Given the description of an element on the screen output the (x, y) to click on. 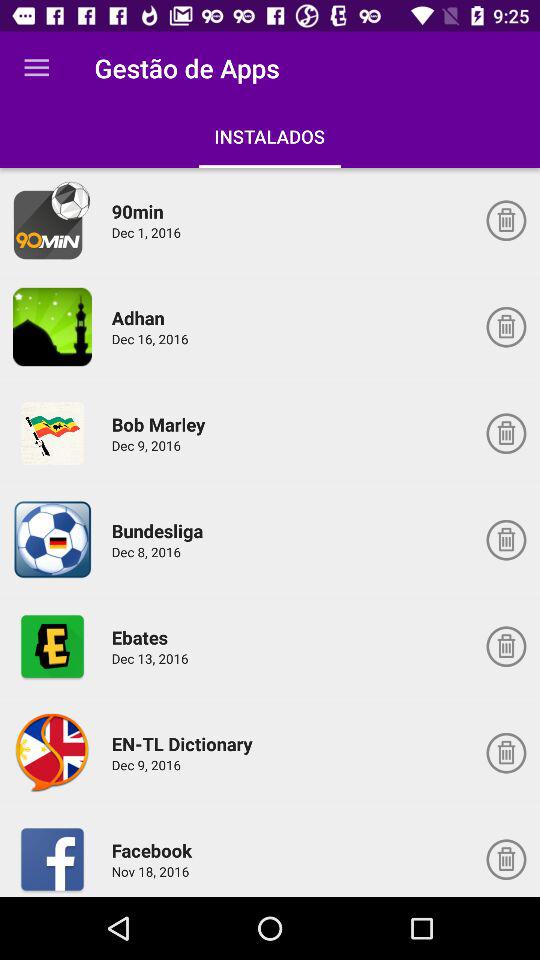
open icon above dec 9, 2016 (161, 424)
